Given the description of an element on the screen output the (x, y) to click on. 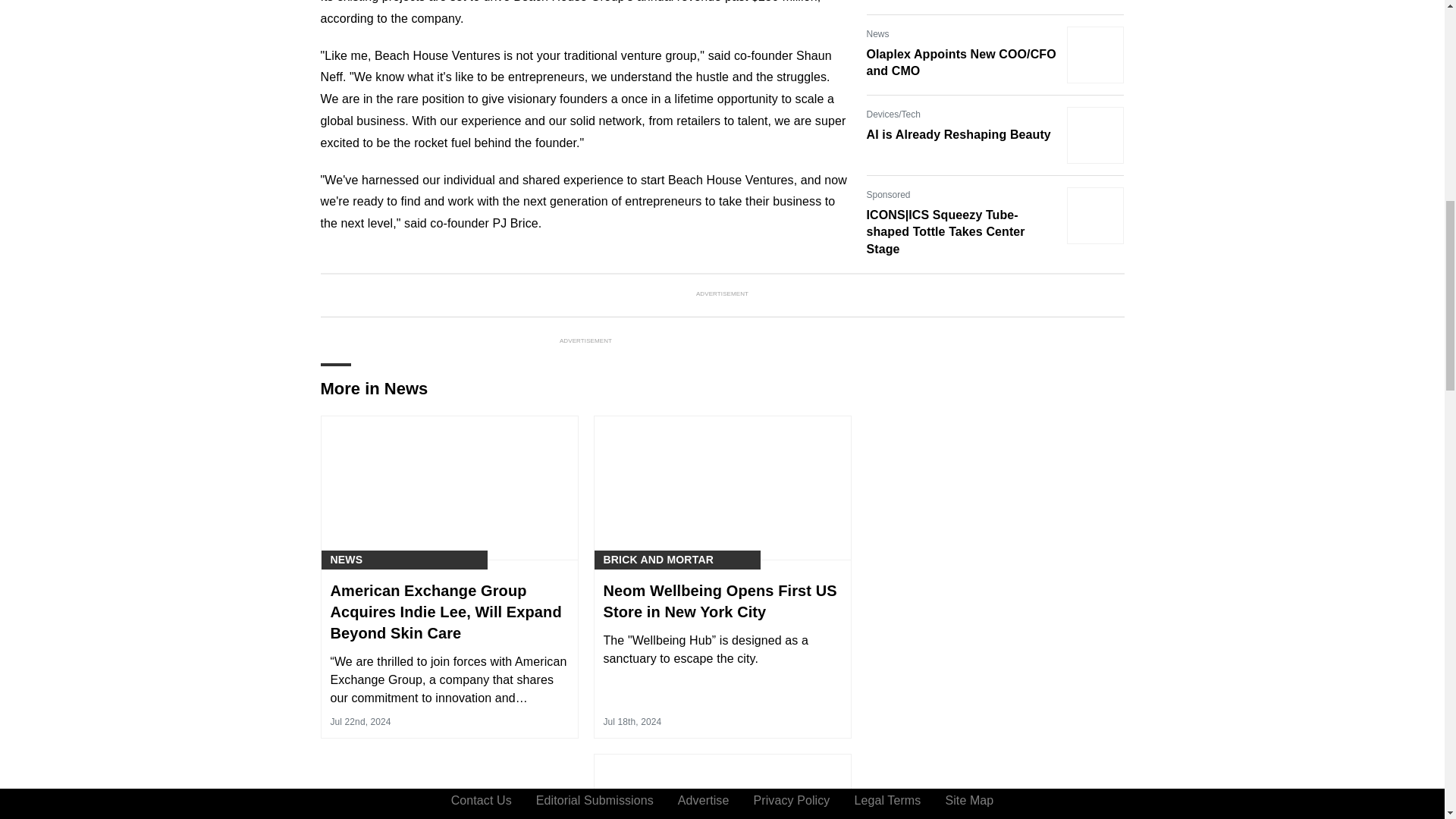
Sponsored (888, 194)
